Given the description of an element on the screen output the (x, y) to click on. 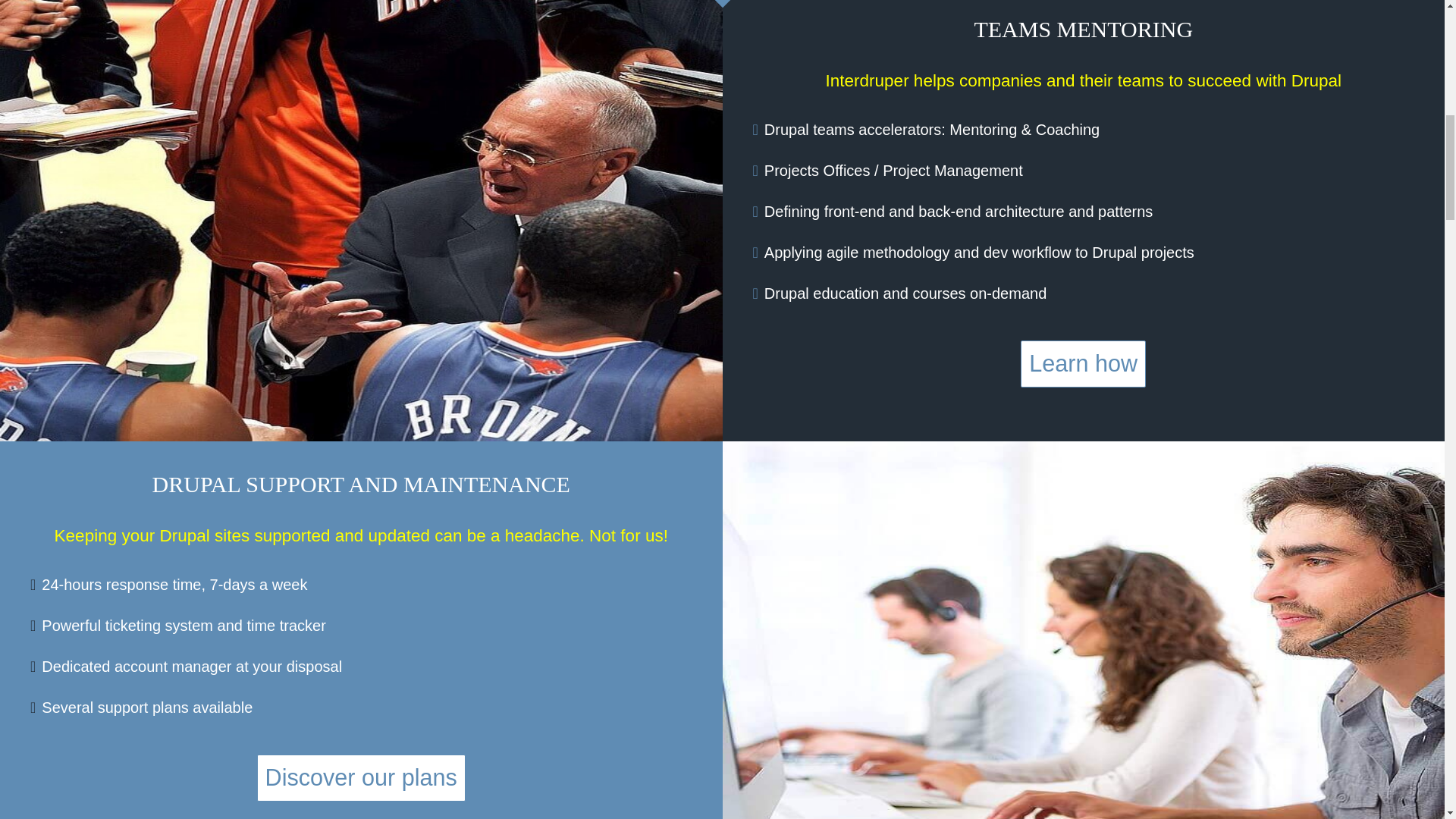
TEAMS MENTORING (1083, 28)
DRUPAL SUPPORT AND MAINTENANCE (361, 483)
Discover our plans (361, 777)
Learn how (1082, 363)
